Given the description of an element on the screen output the (x, y) to click on. 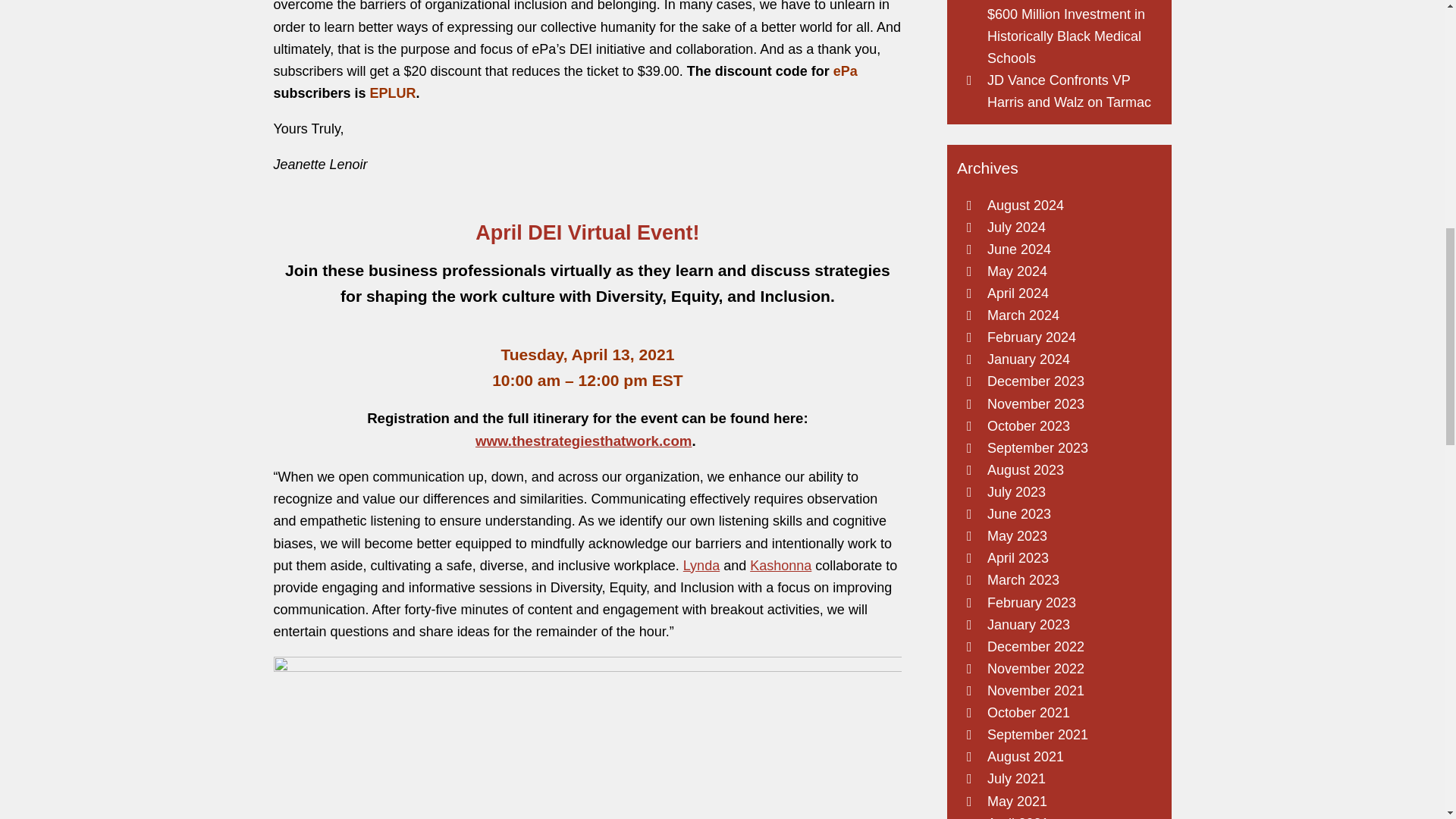
Kashonna (779, 565)
www.thestrategiesthatwork.com (583, 440)
Lynda (700, 565)
